Given the description of an element on the screen output the (x, y) to click on. 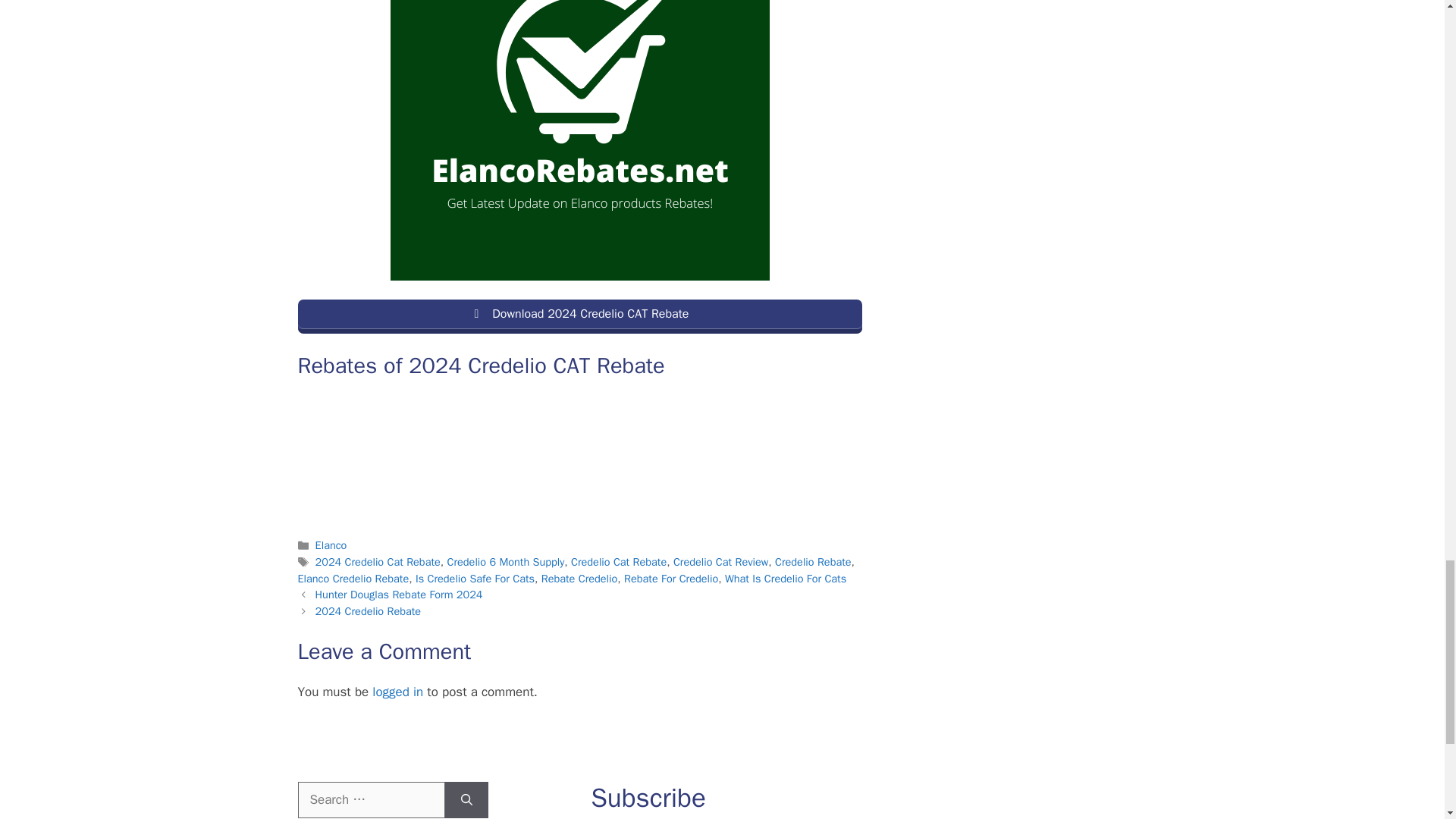
Download 2024 Credelio CAT Rebate (579, 316)
2024 Credelio Rebate (368, 611)
Hunter Douglas Rebate Form 2024 (399, 594)
Rebate For Credelio (670, 578)
Credelio Cat Review (720, 561)
Credelio 6 Month Supply (505, 561)
Elanco (331, 545)
Rebate Credelio (579, 578)
Credelio Rebate (812, 561)
Elanco Credelio Rebate (353, 578)
2024 Credelio CAT Rebate 1 (579, 140)
What Is Credelio For Cats (785, 578)
logged in (397, 691)
Is Credelio Safe For Cats (474, 578)
2024 Credelio Cat Rebate (378, 561)
